Given the description of an element on the screen output the (x, y) to click on. 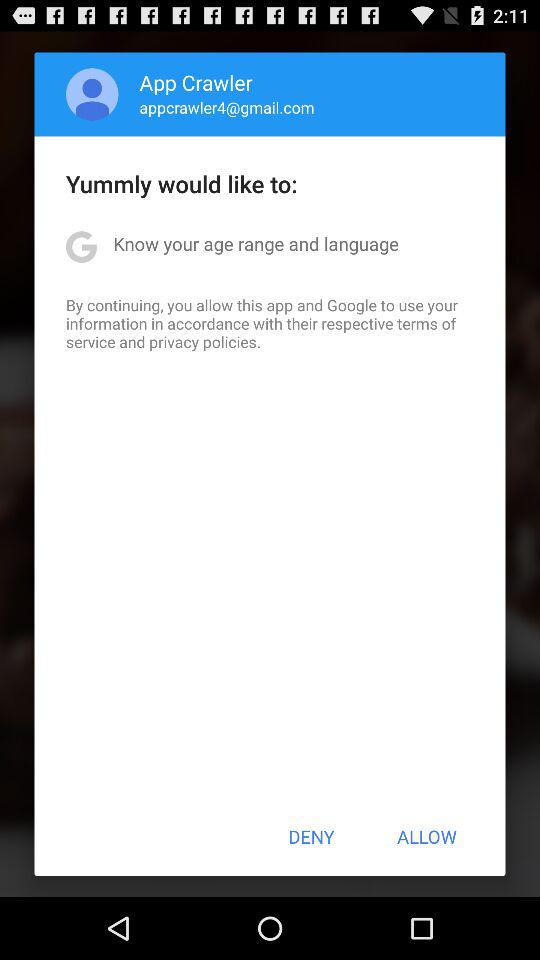
turn off app to the left of the app crawler item (92, 94)
